Given the description of an element on the screen output the (x, y) to click on. 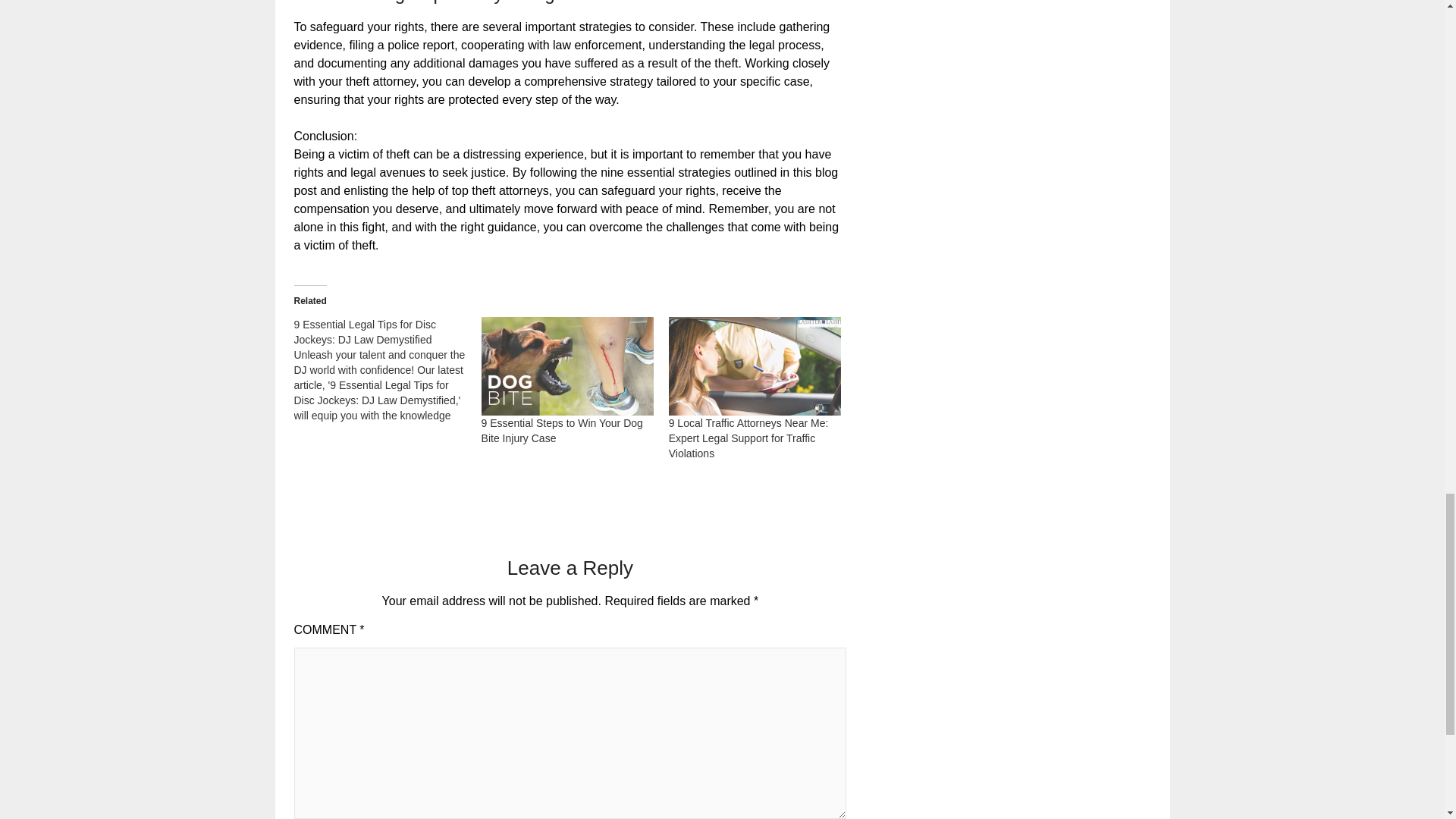
9 Essential Legal Tips for Disc Jockeys: DJ Law Demystified (365, 331)
9 Essential Steps to Win Your Dog Bite Injury Case (562, 430)
9 Essential Legal Tips for Disc Jockeys: DJ Law Demystified (365, 331)
9 Essential Steps to Win Your Dog Bite Injury Case (562, 430)
9 Essential Legal Tips for Disc Jockeys: DJ Law Demystified (387, 369)
9 Essential Steps to Win Your Dog Bite Injury Case (567, 365)
